Given the description of an element on the screen output the (x, y) to click on. 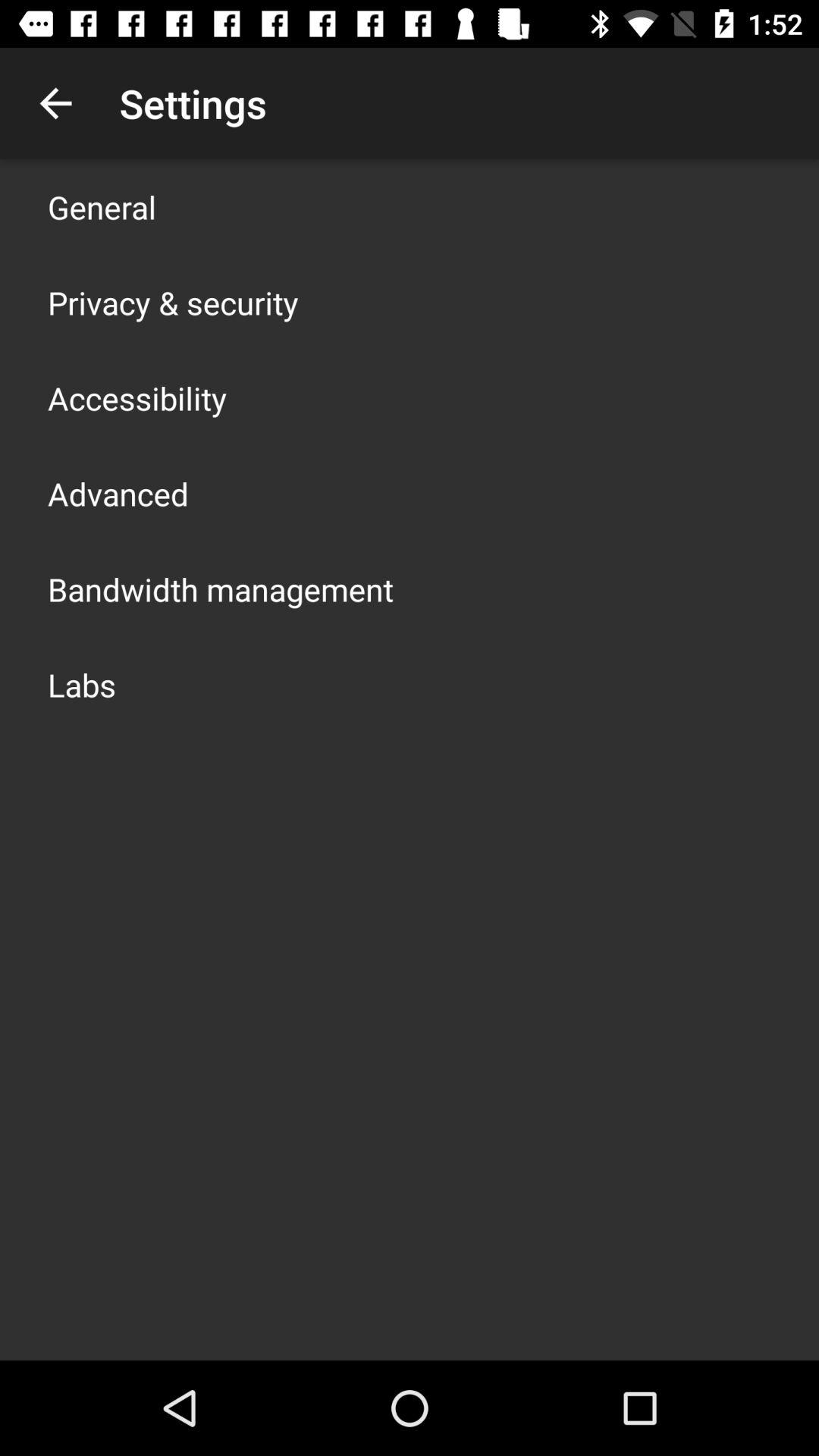
jump until advanced (117, 493)
